Given the description of an element on the screen output the (x, y) to click on. 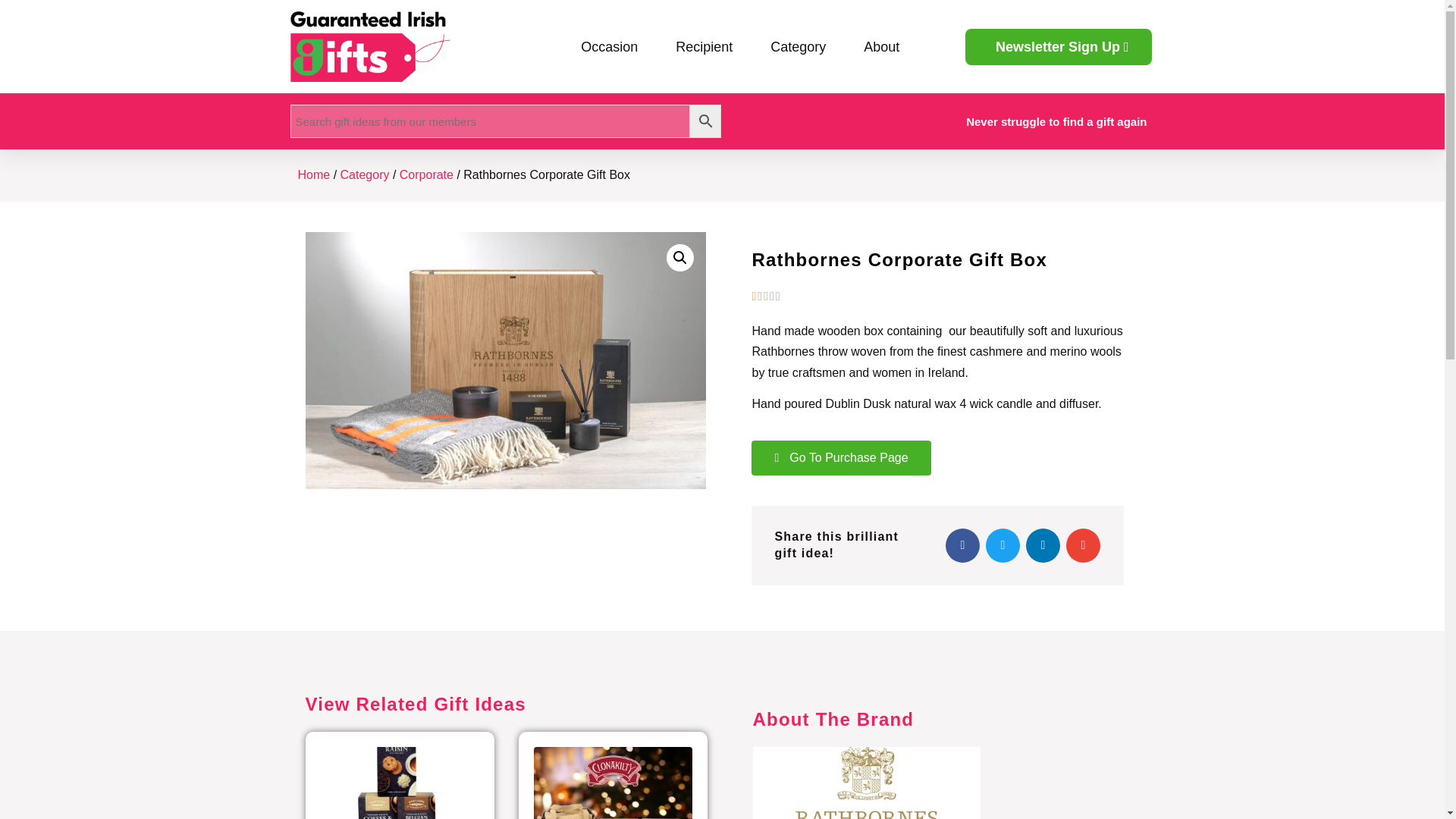
Occasion (608, 46)
West Cork Biscuit Co. Biscuit Selection (399, 782)
Go To Purchase Page (840, 457)
Home (313, 174)
Newsletter Sign Up (1058, 46)
Category (797, 46)
Recipient (703, 46)
About (881, 46)
Category (365, 174)
Corporate (425, 174)
